Given the description of an element on the screen output the (x, y) to click on. 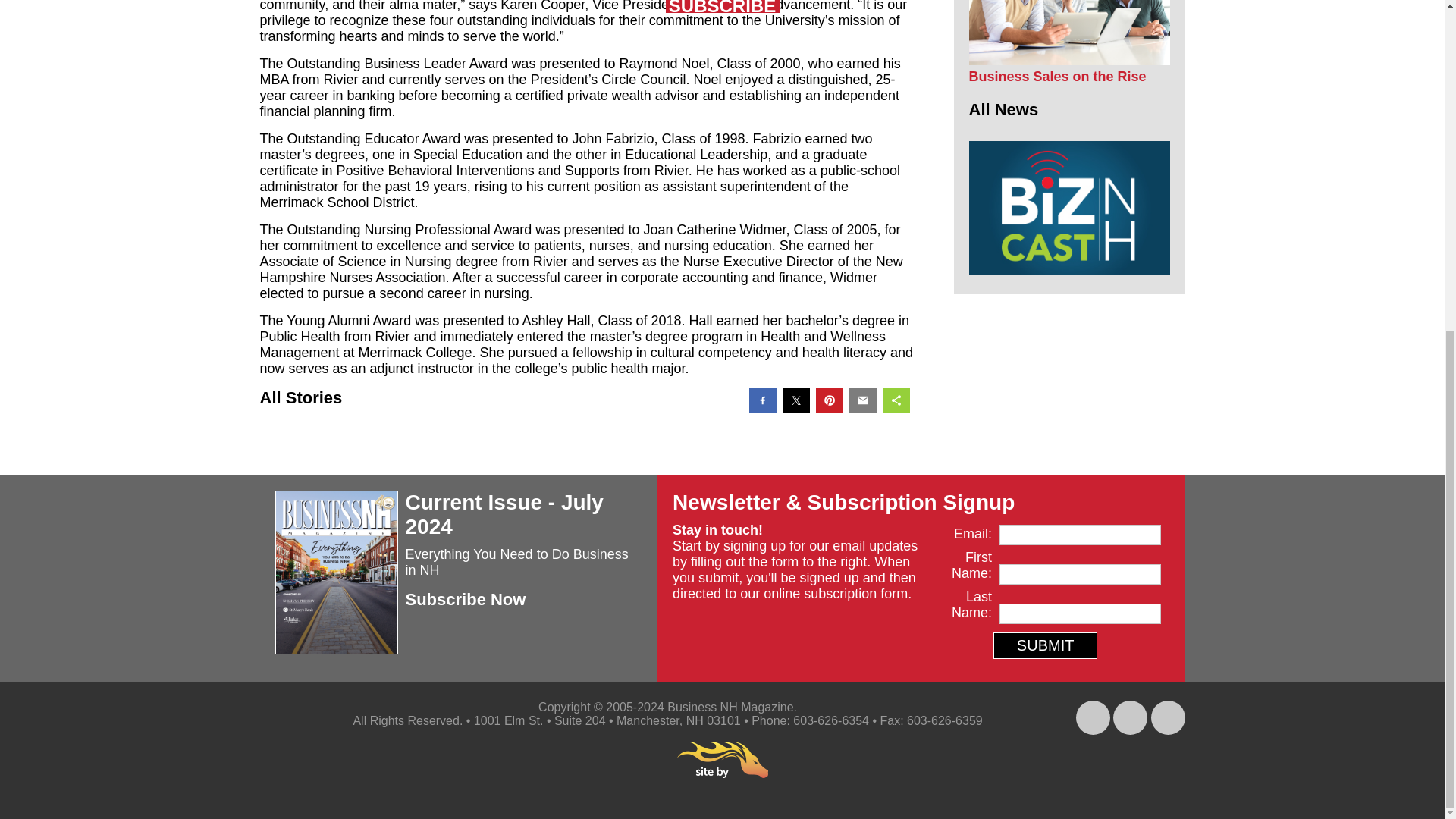
Submit (1044, 645)
